Given the description of an element on the screen output the (x, y) to click on. 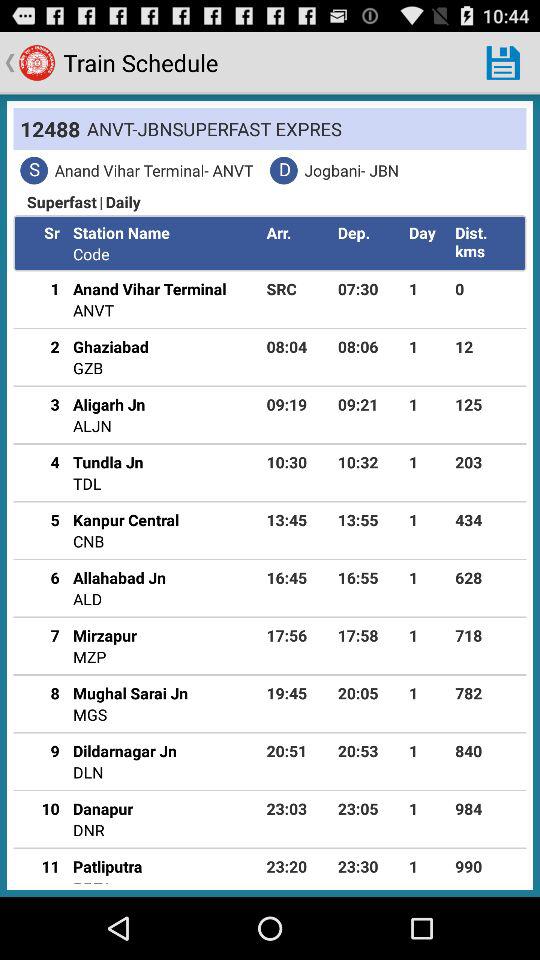
press the icon below the anvt icon (110, 346)
